Given the description of an element on the screen output the (x, y) to click on. 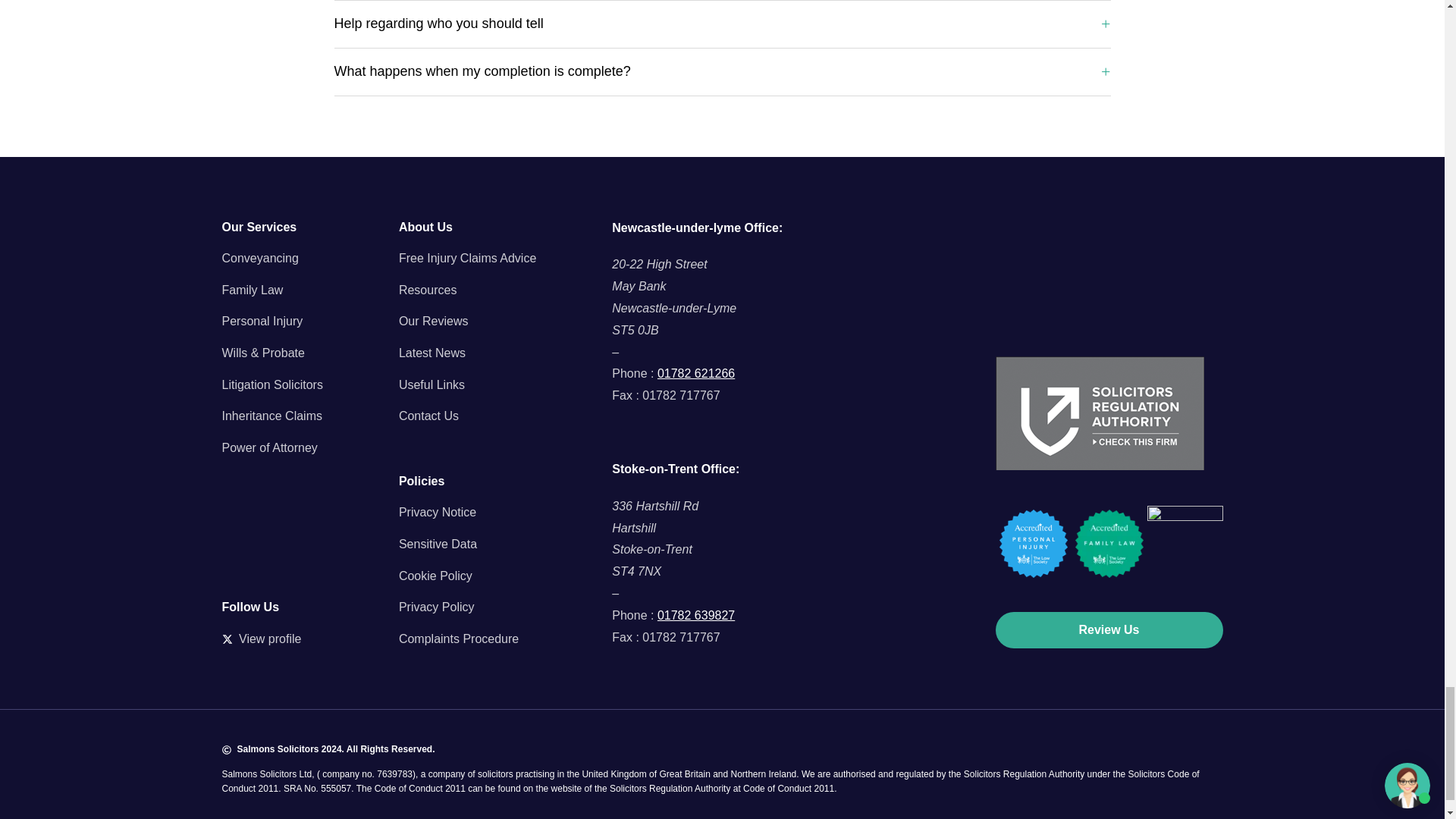
01782 639827 (696, 615)
01782 621266 (696, 373)
